Given the description of an element on the screen output the (x, y) to click on. 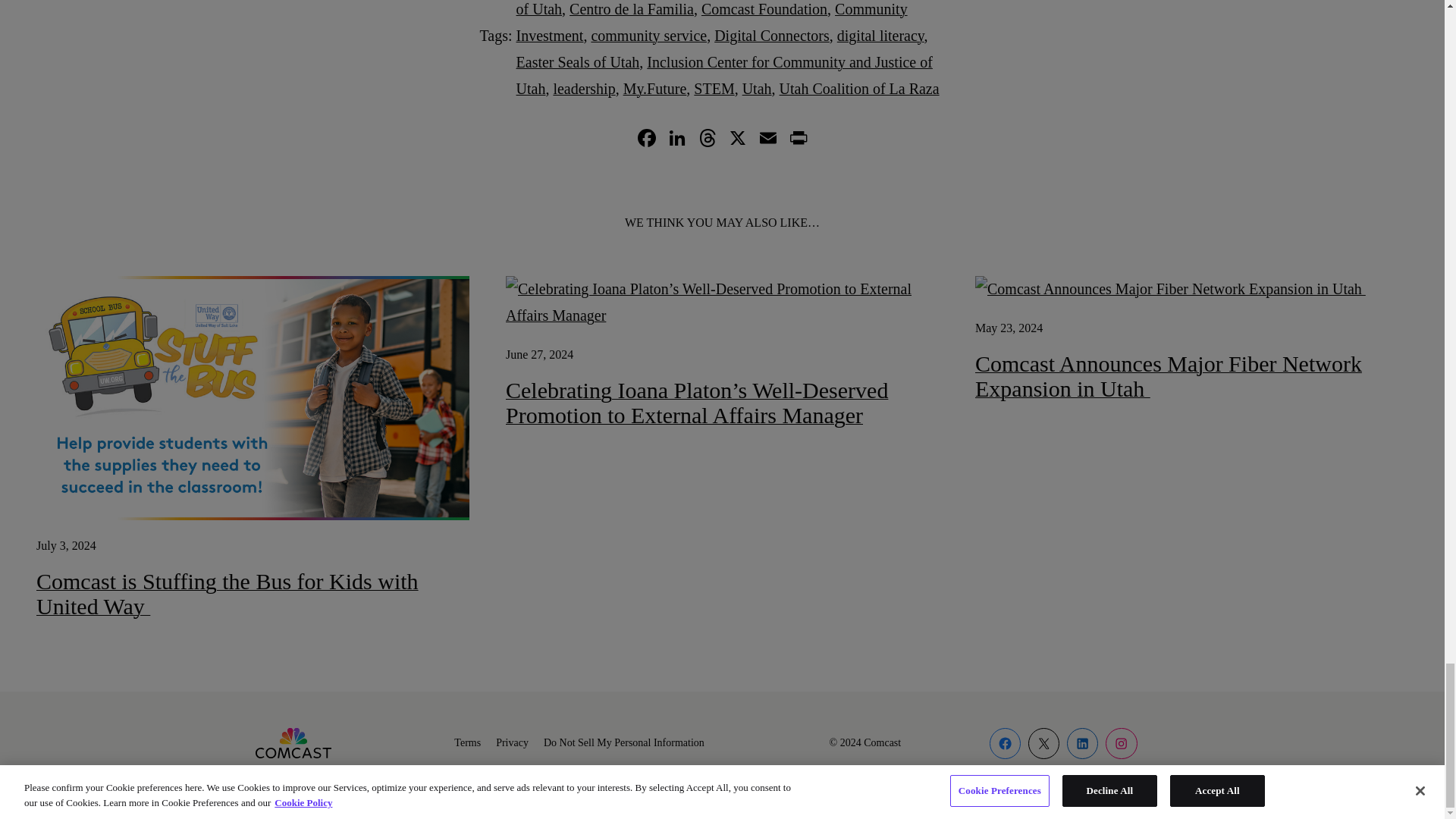
Community Investment (711, 22)
Centro de la Familia (631, 8)
Utah Coalition of La Raza (858, 88)
community service (648, 35)
Comcast Foundation (764, 8)
X (737, 139)
Digital Connectors (771, 35)
PrintFriendly (797, 139)
Facebook (645, 139)
Facebook (645, 139)
Threads (706, 139)
Email (767, 139)
leadership (583, 88)
STEM (713, 88)
Inclusion Center for Community and Justice of Utah (724, 75)
